Given the description of an element on the screen output the (x, y) to click on. 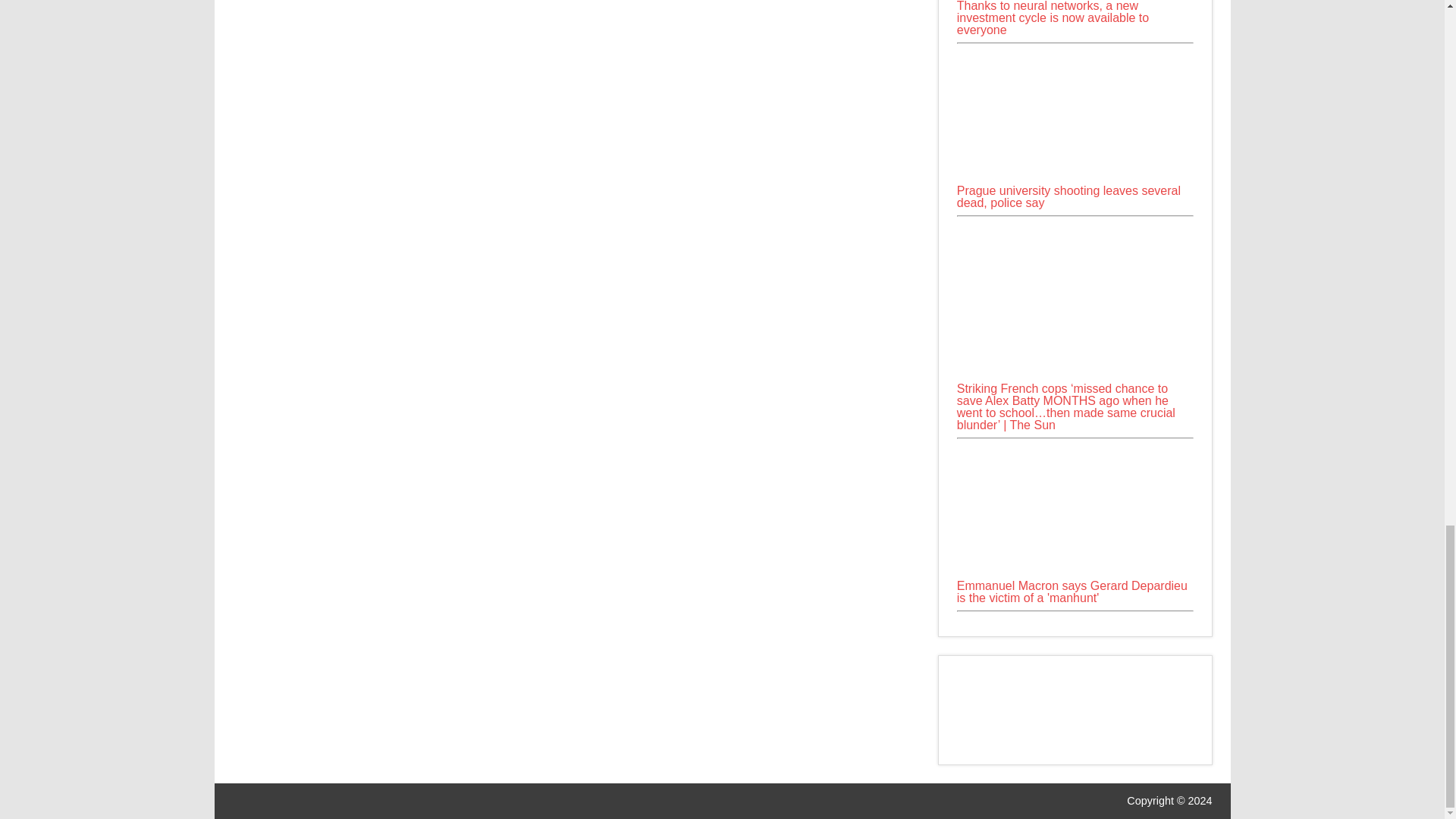
Prague university shooting leaves several dead, police say (1074, 115)
Prague university shooting leaves several dead, police say (1074, 178)
Prague university shooting leaves several dead, police say (1068, 196)
